Given the description of an element on the screen output the (x, y) to click on. 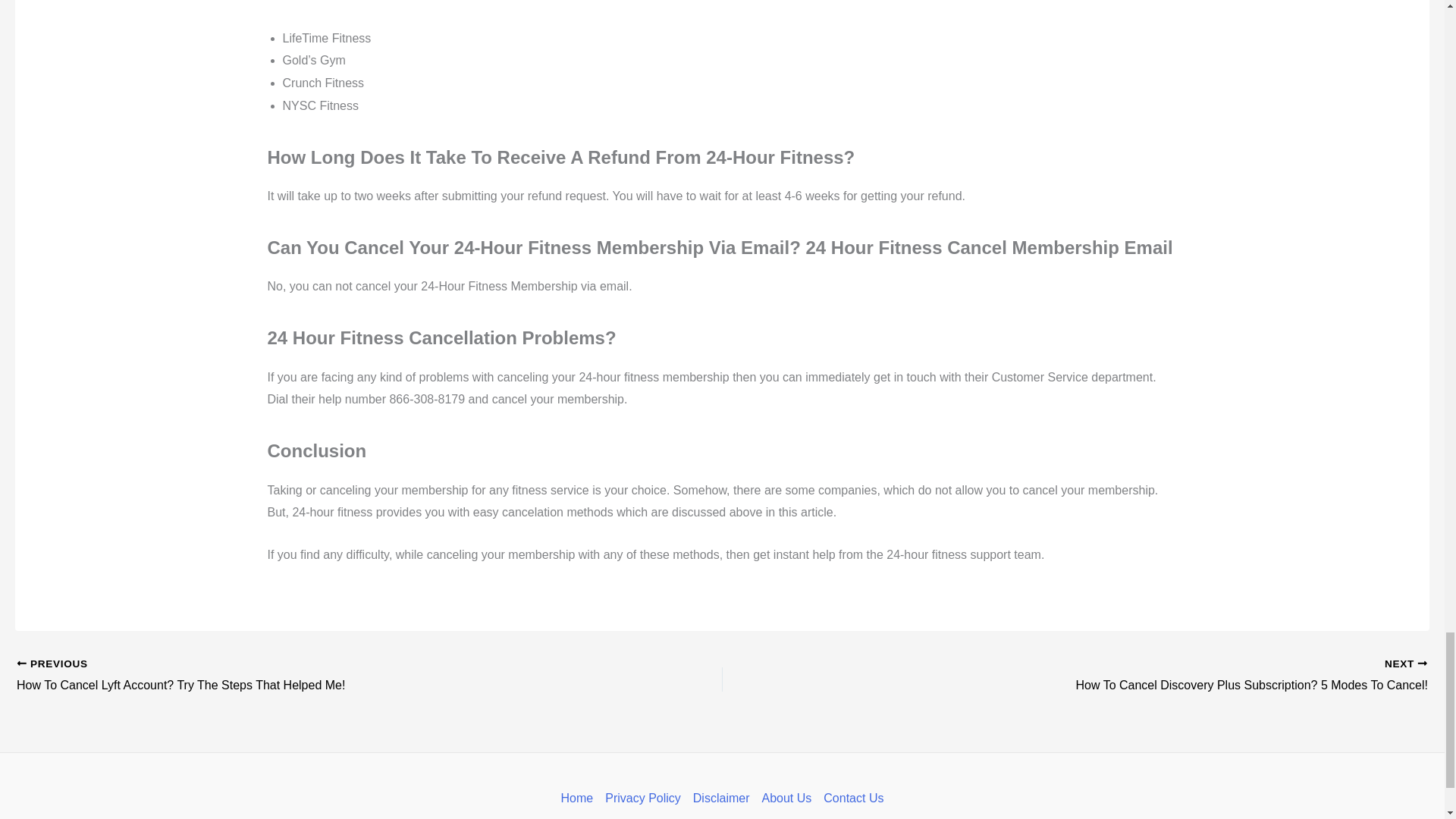
Home (579, 798)
Privacy Policy (642, 798)
About Us (785, 798)
Disclaimer (721, 798)
